Given the description of an element on the screen output the (x, y) to click on. 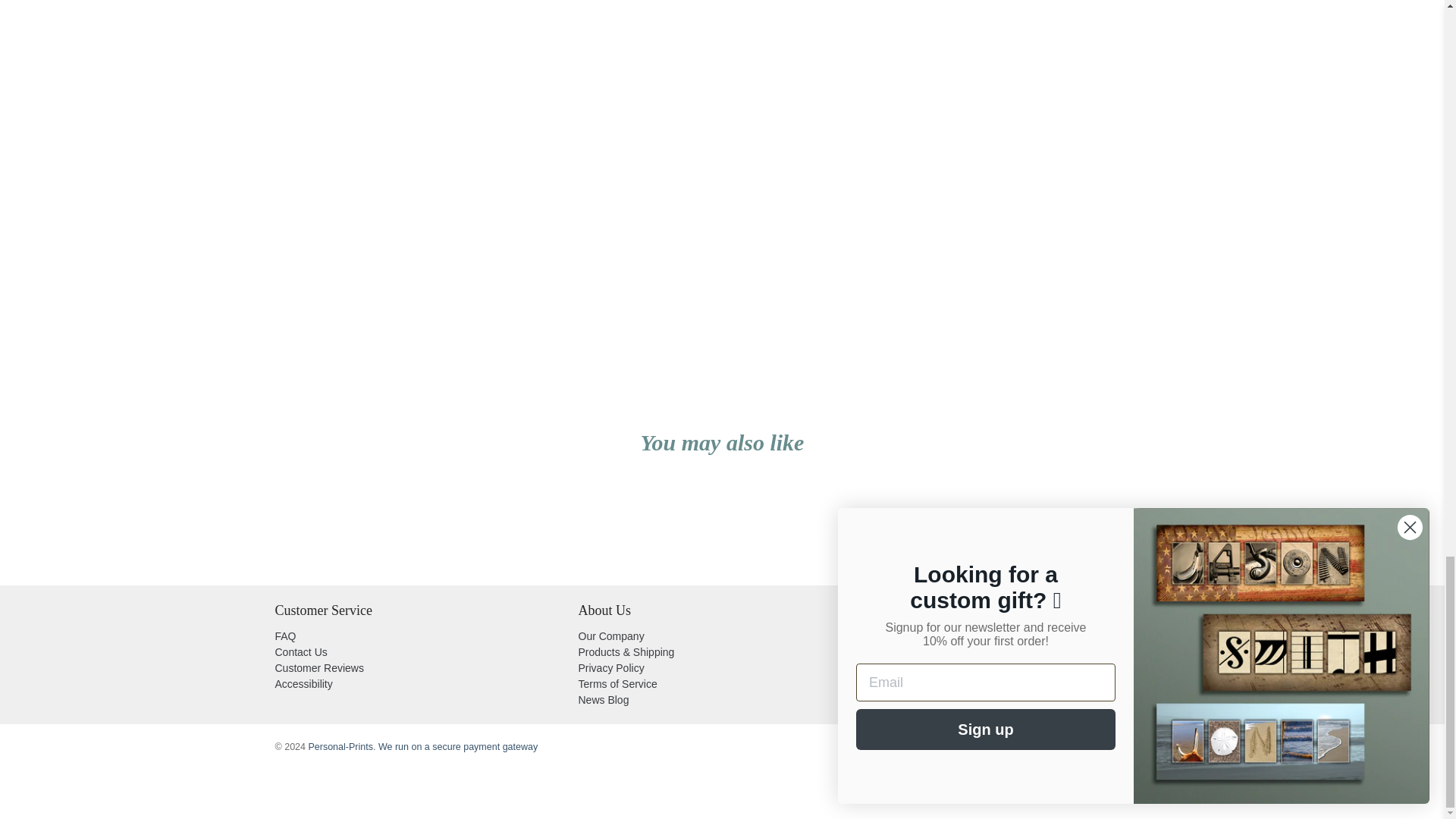
Personal-Prints on Instagram (956, 685)
Personal-Prints on Facebook (905, 685)
Personal-Prints on Pinterest (940, 685)
American Express (895, 749)
Apple Pay (928, 749)
Discover (991, 749)
Email Personal-Prints (975, 685)
Personal-Prints on YouTube (922, 685)
Personal-Prints on Twitter (887, 685)
Diners Club (959, 749)
